Given the description of an element on the screen output the (x, y) to click on. 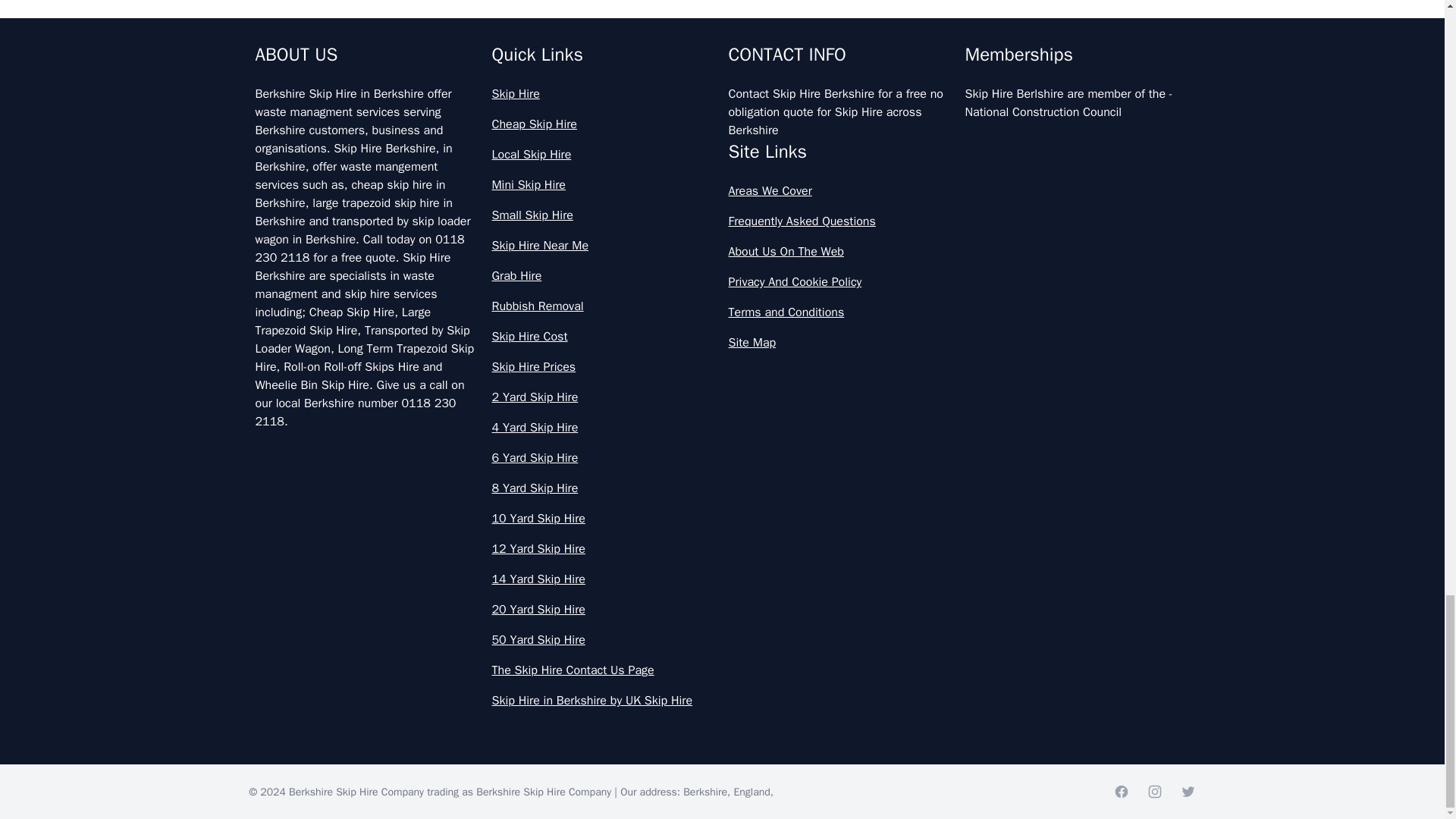
Can You Hire A Skip In Reading (722, 236)
Do Skip Hire Companies Recycle In Reading (722, 503)
Do I Need A Permit To Hire A Skip In Reading (722, 436)
Can You Hire A Skip For An Hour In Reading (722, 36)
How Can I Hire A Skip In Reading (722, 703)
Skip Hire in Berkshire by UK Skip Hire (604, 700)
Can You Hire A Skip For Garden Waste In Reading (722, 102)
Can You Put Anything In A Hired Skip In Reading (722, 369)
Can You Hire A Skip For One Day In Reading (722, 169)
Site Map (840, 342)
Can You Hire Skips In Reading (722, 303)
Does Skip Hire Include Disposal In Reading (722, 636)
How Do I Hire A Skip In Reading (722, 770)
Do You Pay For Skip Hire Upfront In Reading (722, 570)
